Given the description of an element on the screen output the (x, y) to click on. 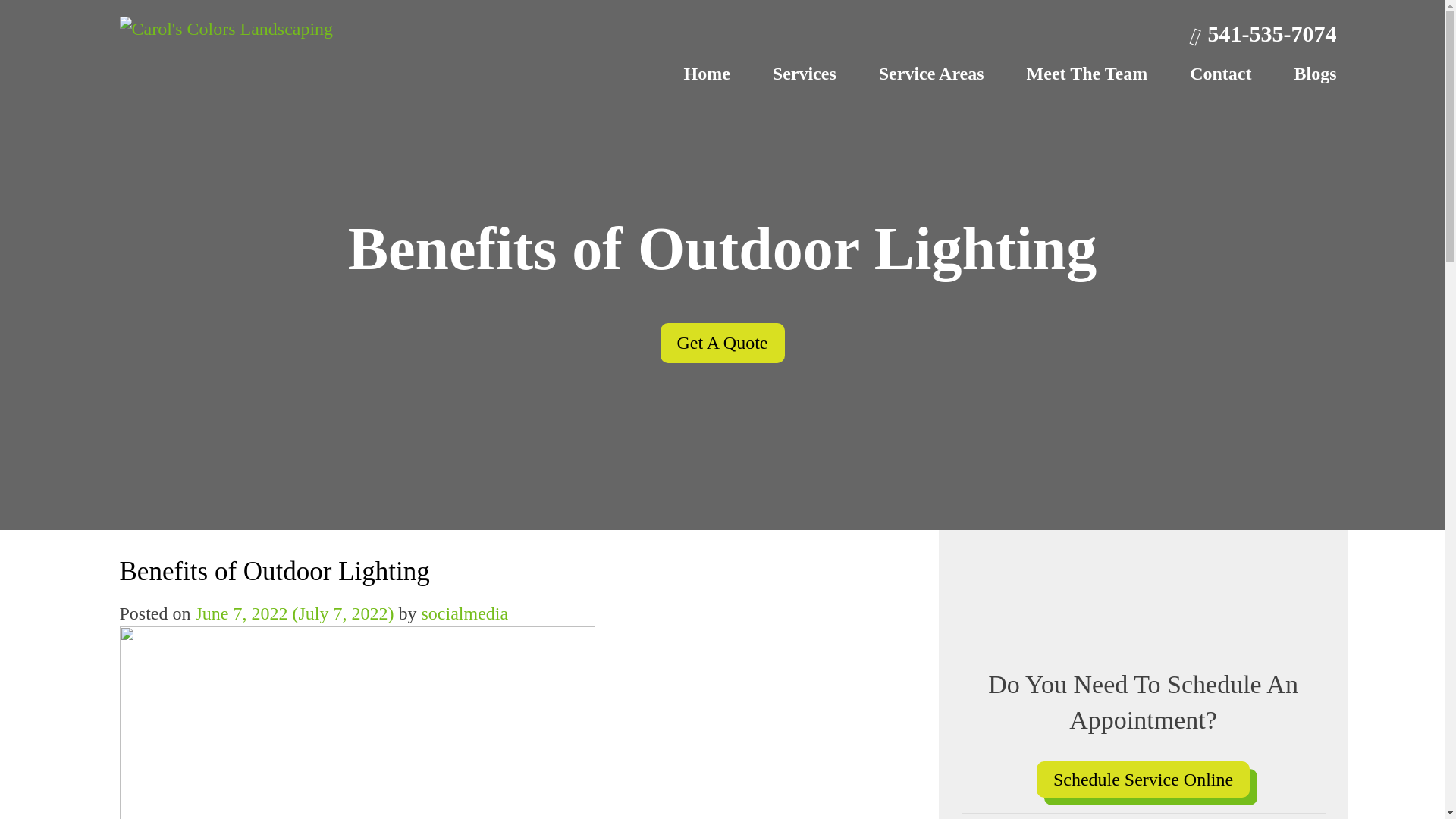
541-535-7074 (1263, 33)
Contact (1219, 73)
Meet The Team (1087, 73)
Service Areas (931, 73)
Services (805, 73)
Blogs (1305, 73)
Home (705, 73)
